Given the description of an element on the screen output the (x, y) to click on. 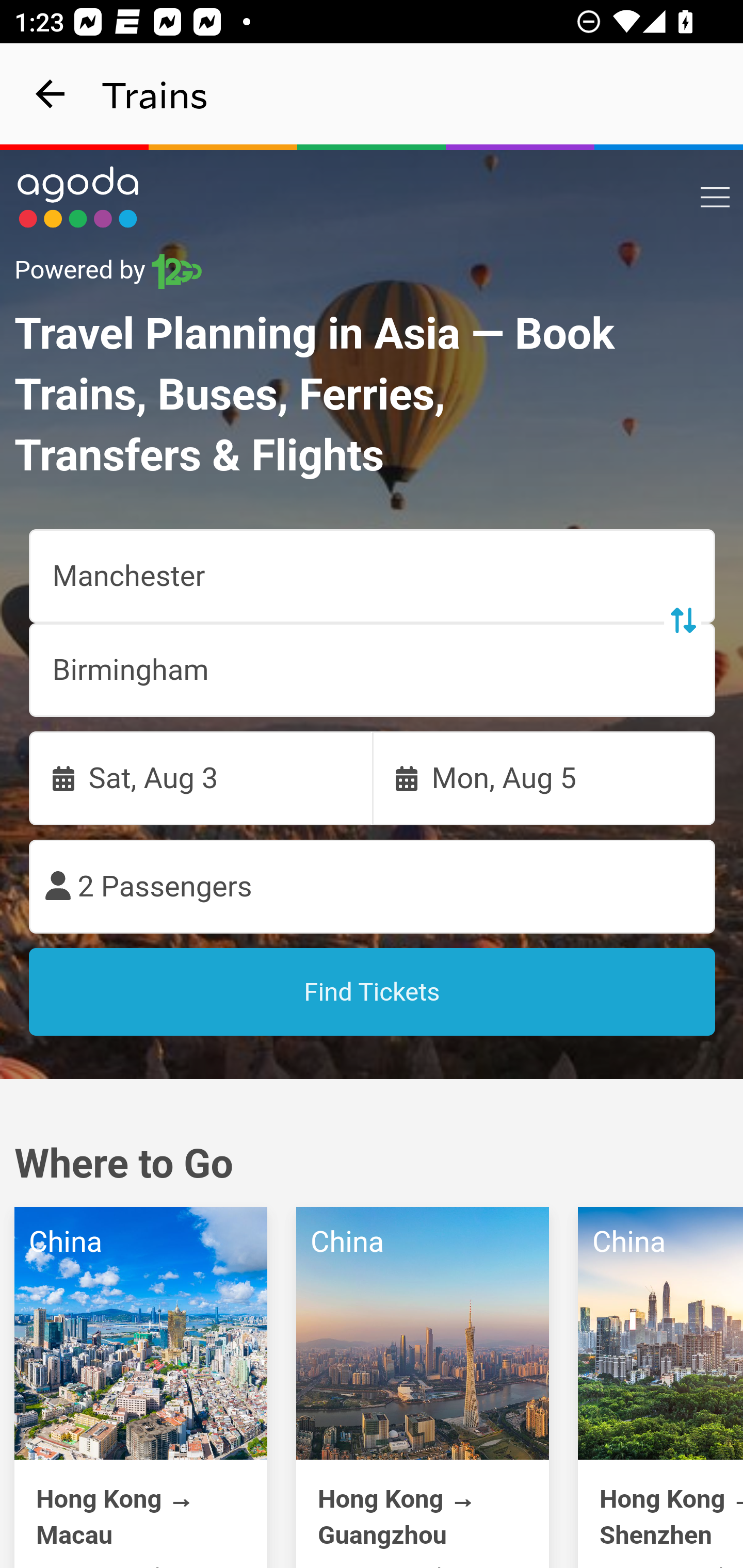
navigation_button (50, 93)
Link to main page 5418 (78, 197)
Manchester Swap trip points (372, 576)
Swap trip points (682, 619)
Birmingham (372, 670)
Sat, Aug 3 Mon, Aug 5 (372, 778)
Sat, Aug 3 (200, 778)
Mon, Aug 5 (544, 778)
 2 Passengers (372, 887)
Find Tickets (372, 992)
